Given the description of an element on the screen output the (x, y) to click on. 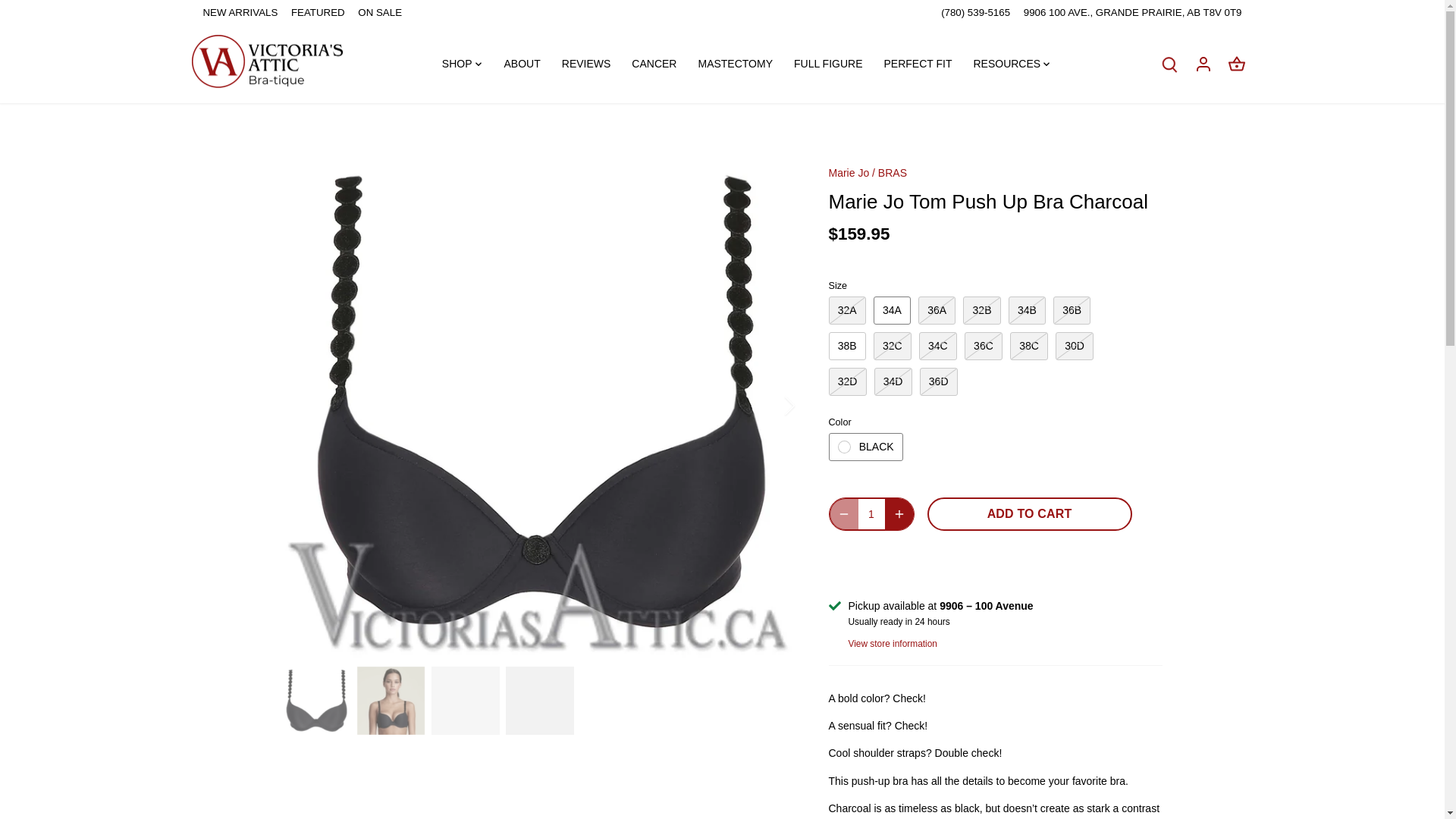
NEW ARRIVALS (240, 12)
FEATURED (318, 12)
ON SALE (379, 12)
SHOP (462, 63)
9906 100 AVE., GRANDE PRAIRIE, AB T8V 0T9 (1132, 12)
